Given the description of an element on the screen output the (x, y) to click on. 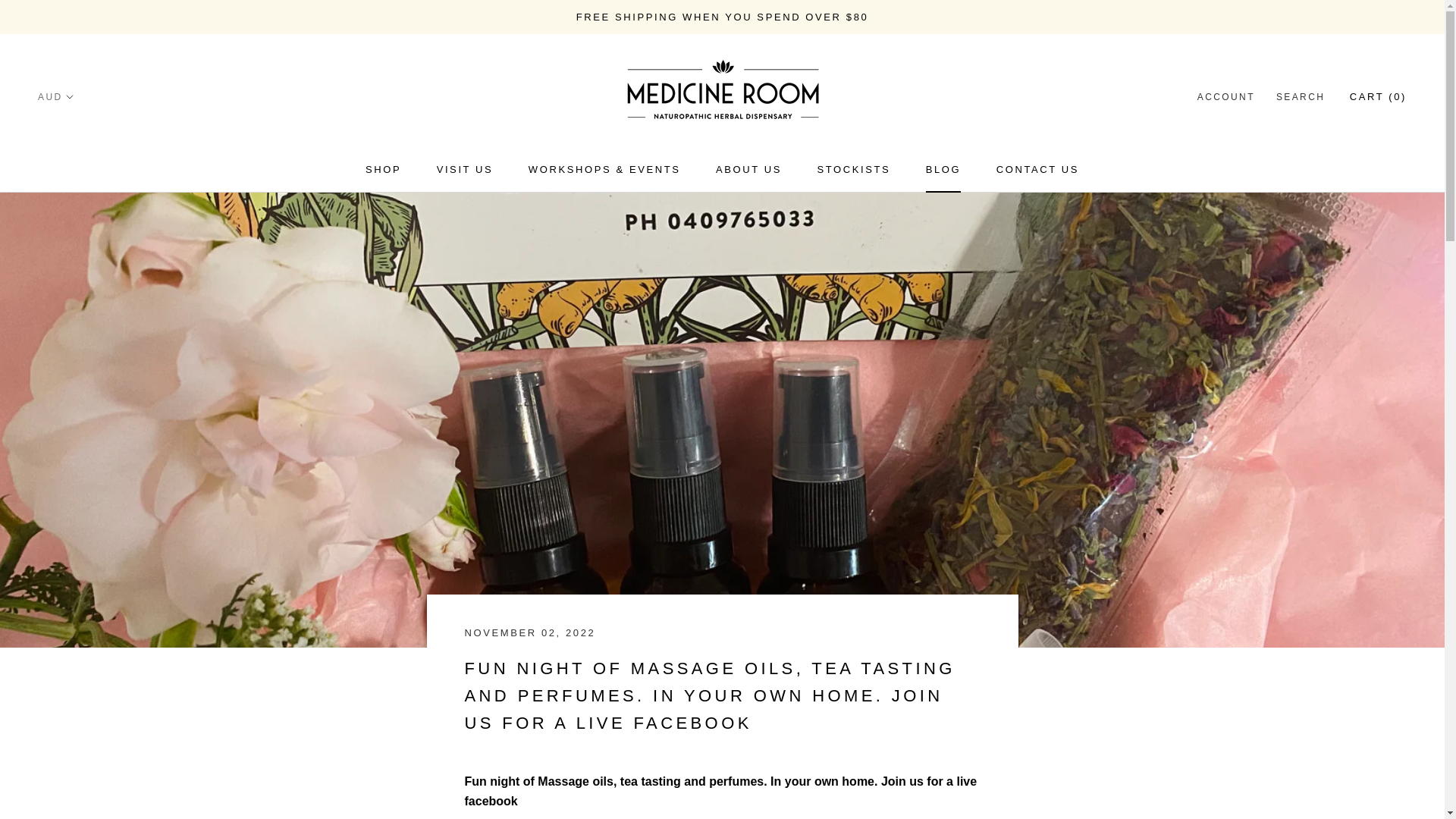
SHOP (748, 169)
